Given the description of an element on the screen output the (x, y) to click on. 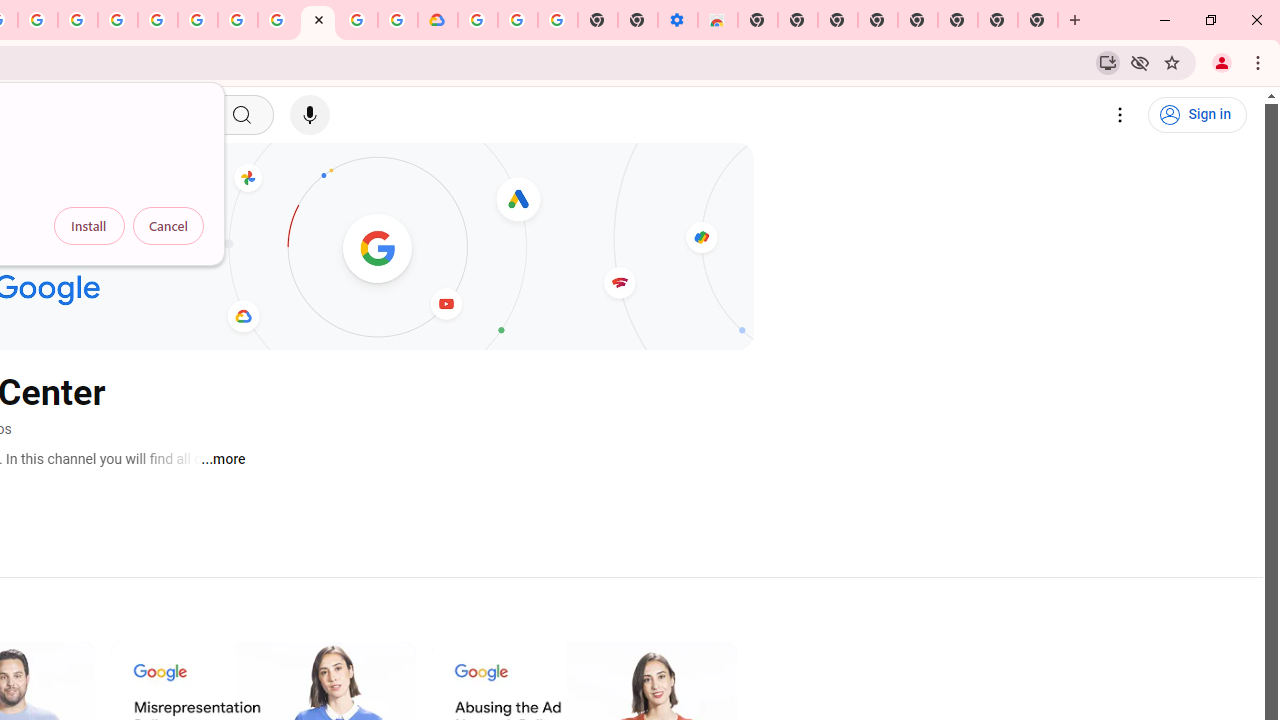
New Tab (1037, 20)
Install YouTube (1107, 62)
Chrome Web Store - Accessibility extensions (717, 20)
Sign in - Google Accounts (477, 20)
Settings - Accessibility (677, 20)
Search (240, 115)
Android TV Policies and Guidelines - Transparency Center (278, 20)
Google Account Help (517, 20)
Ad Settings (118, 20)
Turn cookies on or off - Computer - Google Account Help (557, 20)
Sign in - Google Accounts (157, 20)
